Given the description of an element on the screen output the (x, y) to click on. 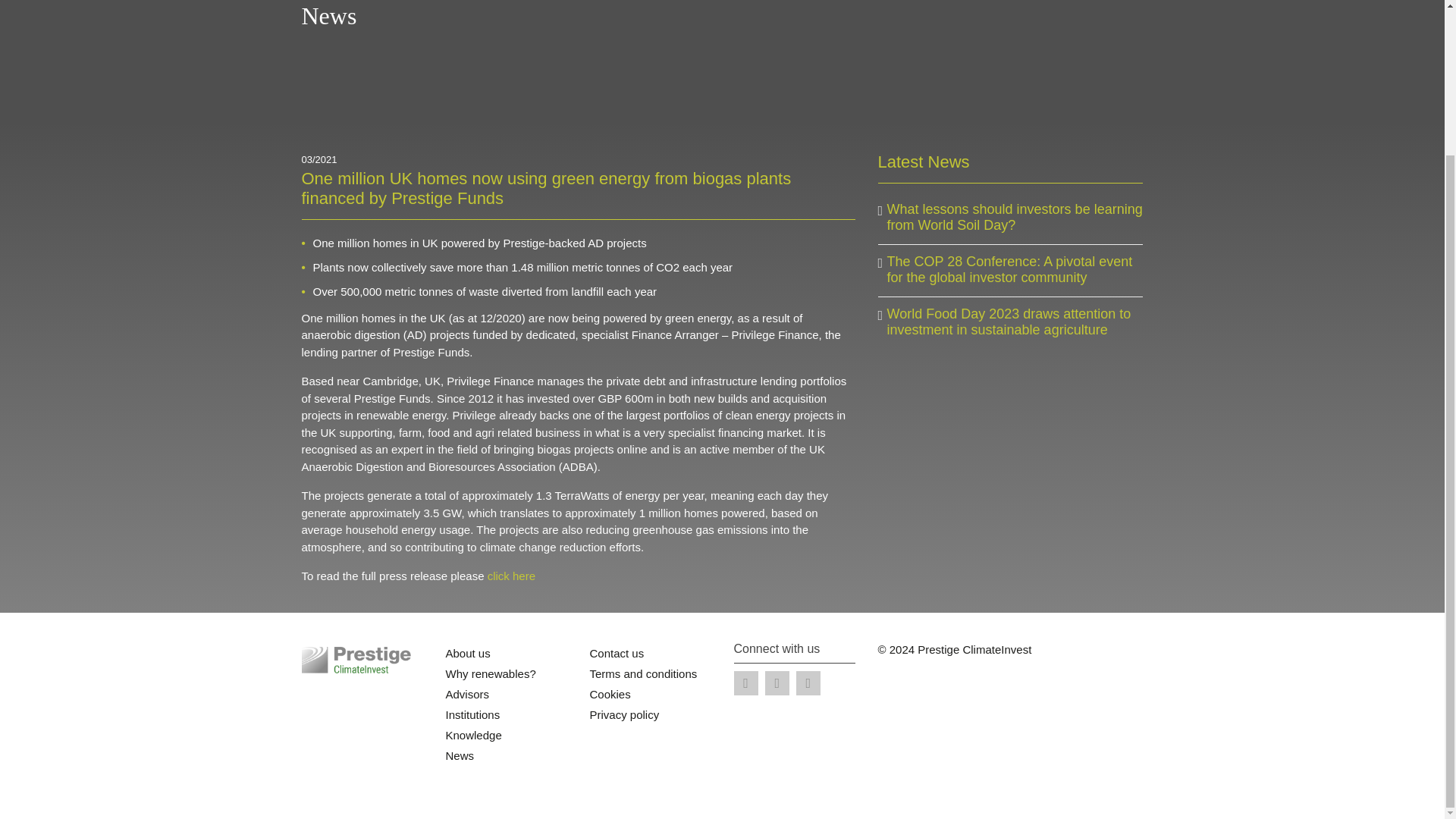
Log In (840, 11)
